Given the description of an element on the screen output the (x, y) to click on. 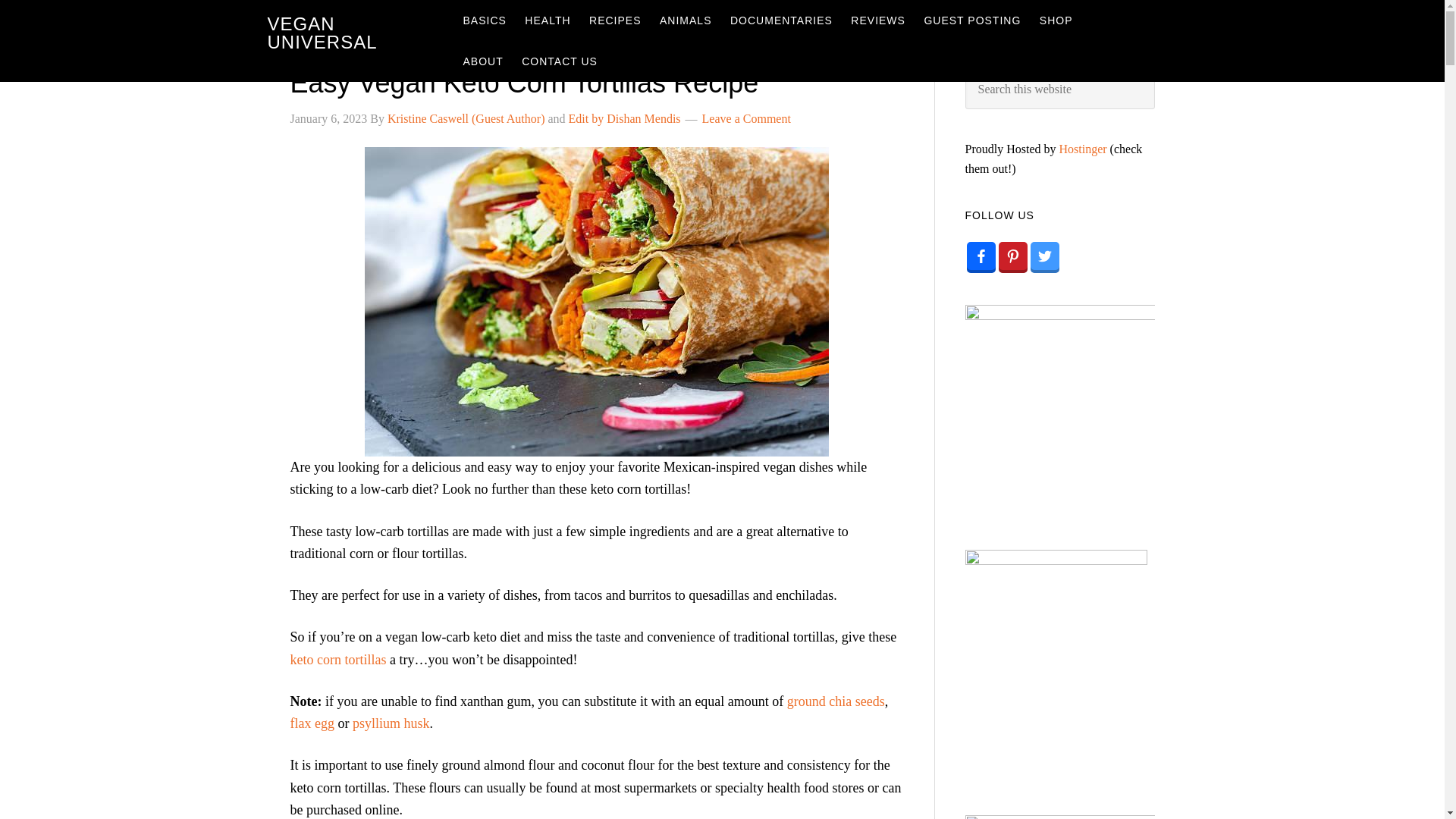
HEALTH (547, 20)
RECIPES (613, 20)
BASICS (483, 20)
VEGAN UNIVERSAL (321, 32)
Posts by Edit by Dishan Mendis (625, 118)
